Given the description of an element on the screen output the (x, y) to click on. 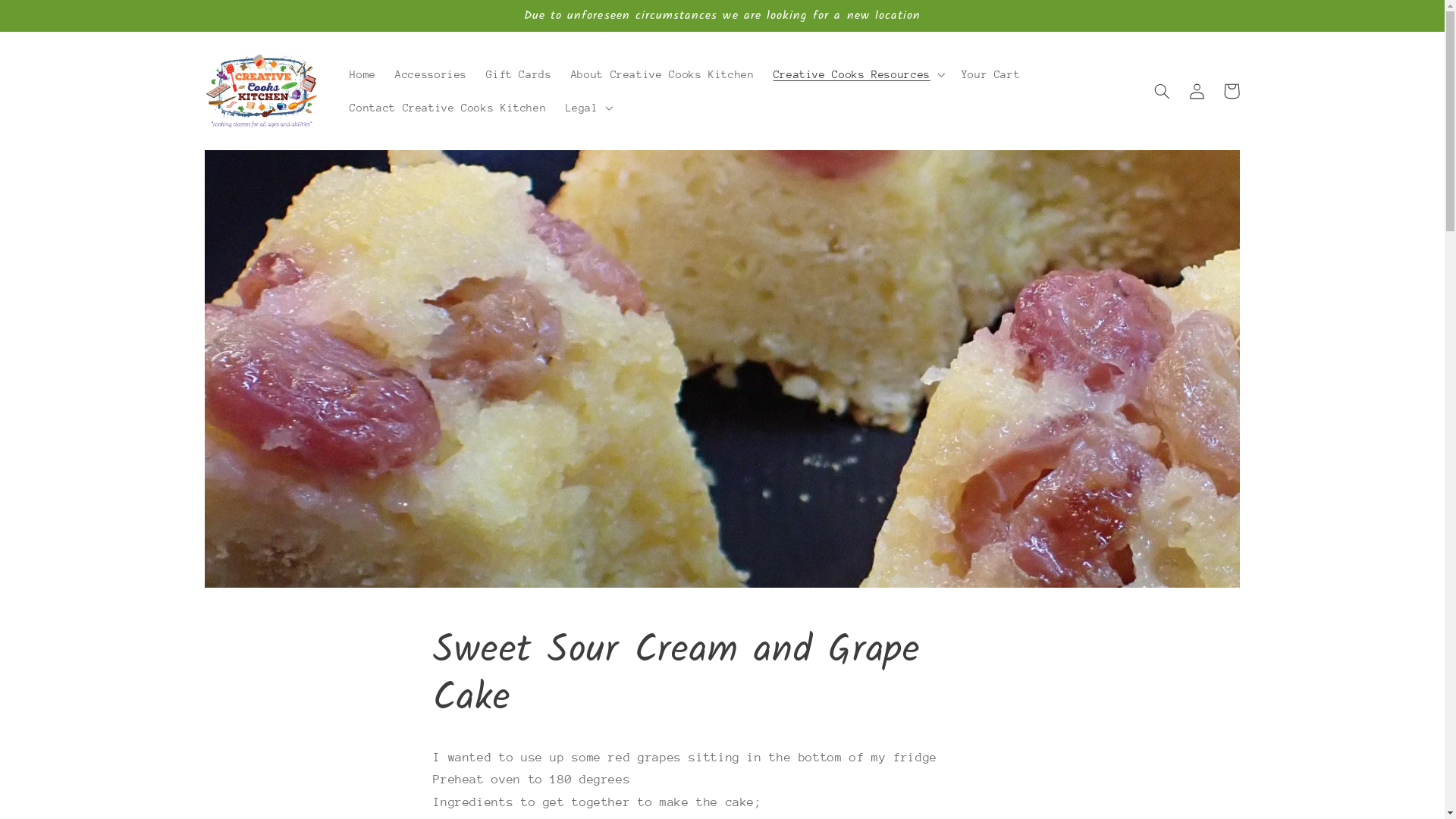
Contact Creative Cooks Kitchen Element type: text (447, 107)
About Creative Cooks Kitchen Element type: text (662, 74)
Cart Element type: text (1231, 90)
Accessories Element type: text (430, 74)
Log in Element type: text (1196, 90)
Gift Cards Element type: text (518, 74)
Your Cart Element type: text (990, 74)
Home Element type: text (362, 74)
